Given the description of an element on the screen output the (x, y) to click on. 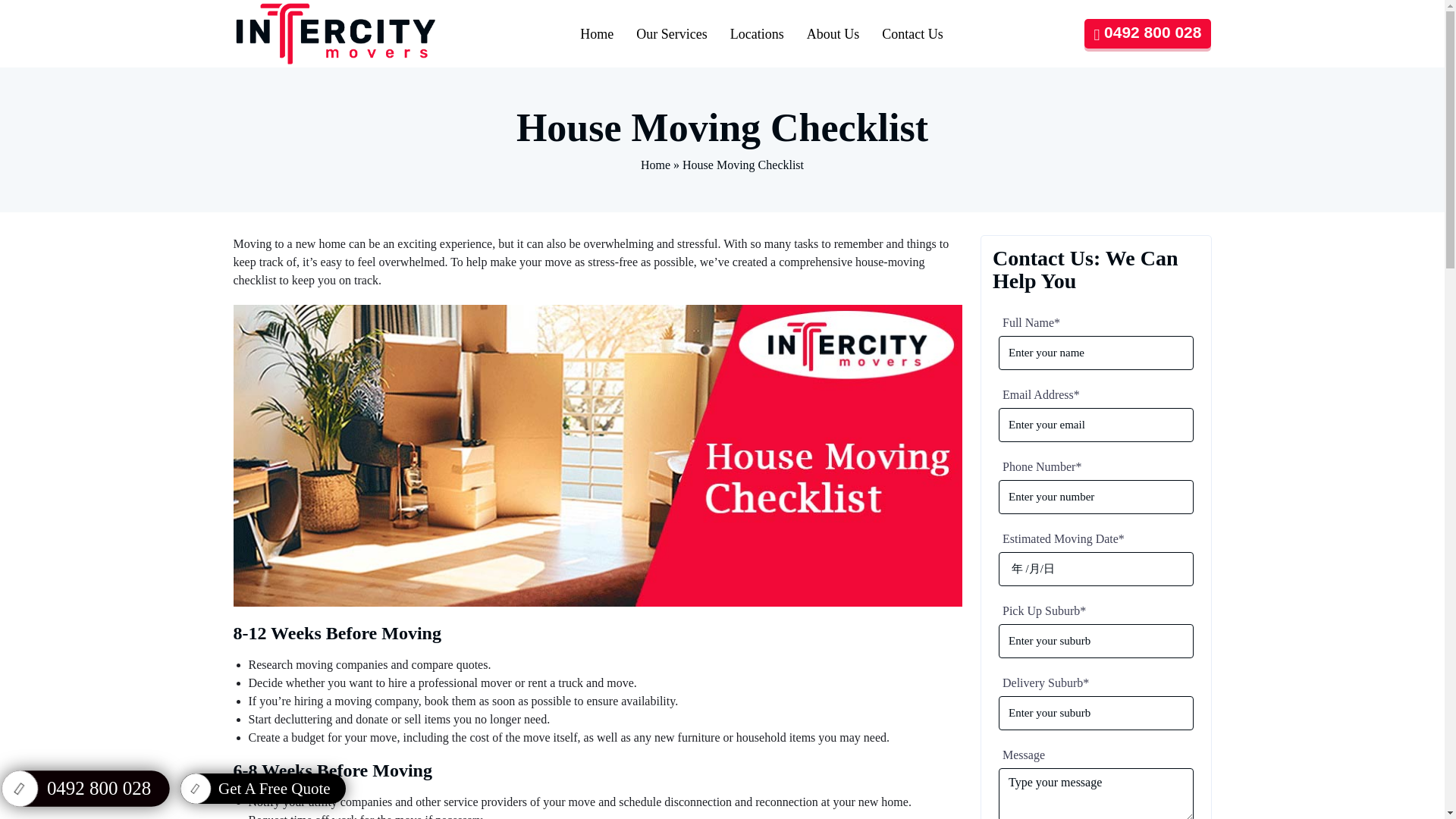
Our Services (670, 34)
Home (654, 164)
Home (596, 34)
About Us (832, 34)
Contact Us (912, 34)
Get A Free Quote (263, 788)
Locations (756, 34)
0492 800 028 (74, 786)
0492 800 028 (1147, 33)
